Given the description of an element on the screen output the (x, y) to click on. 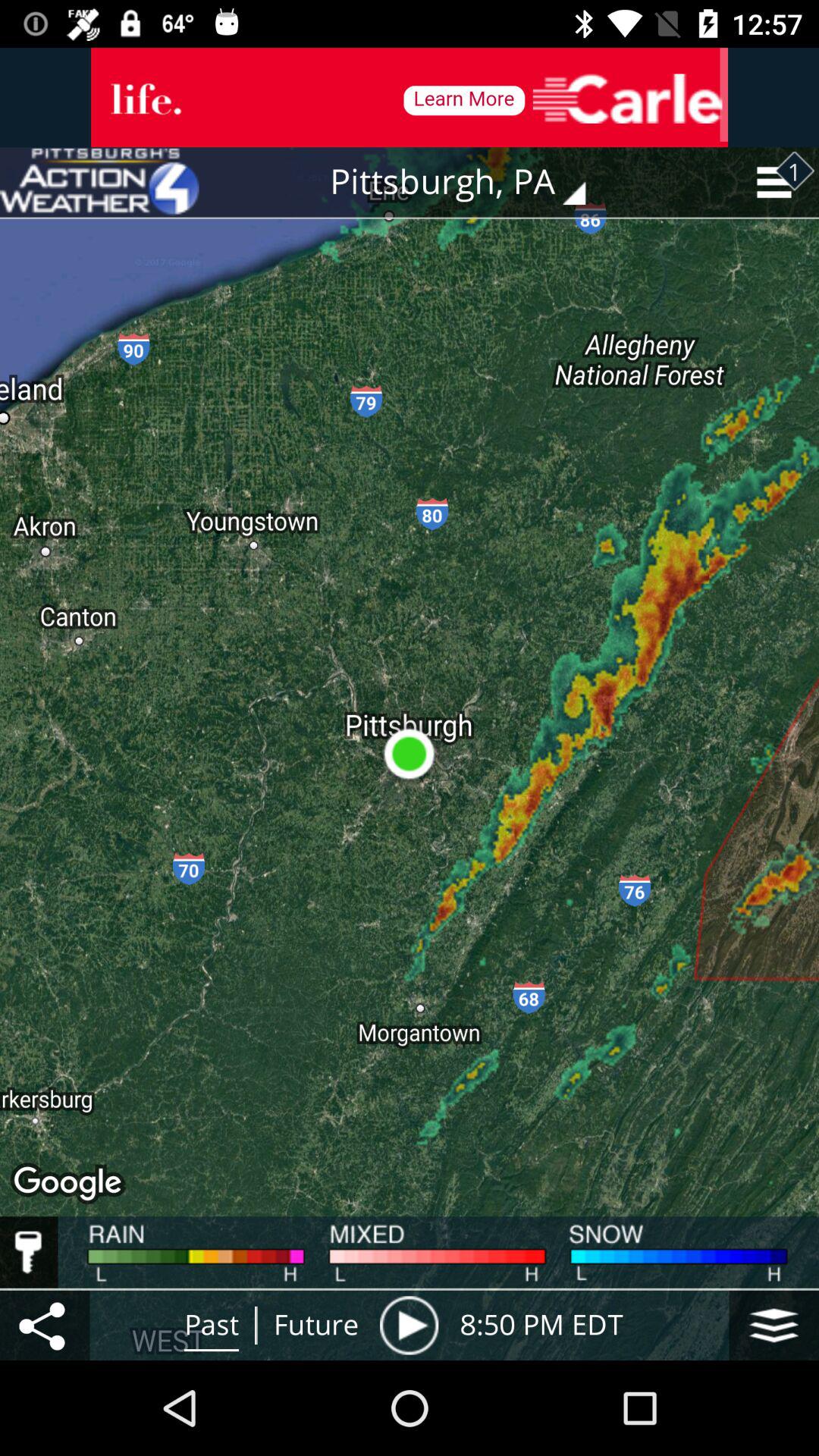
share location (44, 1325)
